Given the description of an element on the screen output the (x, y) to click on. 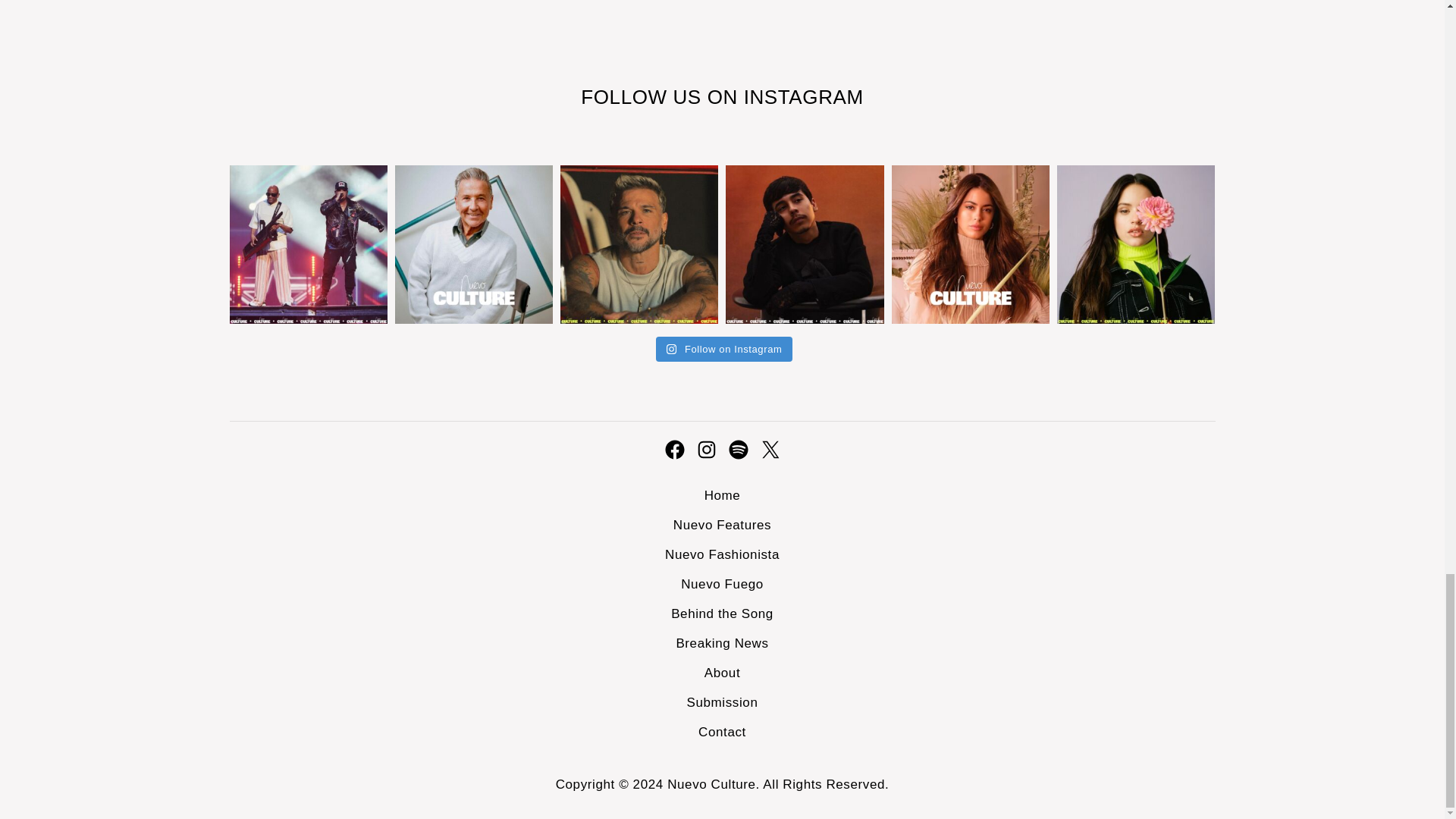
Nuevo Features (721, 524)
FOLLOW US ON  (661, 96)
Spotify (737, 449)
X (769, 449)
Follow on Instagram (724, 349)
Facebook (673, 449)
Instagram (705, 449)
Home (722, 495)
